Given the description of an element on the screen output the (x, y) to click on. 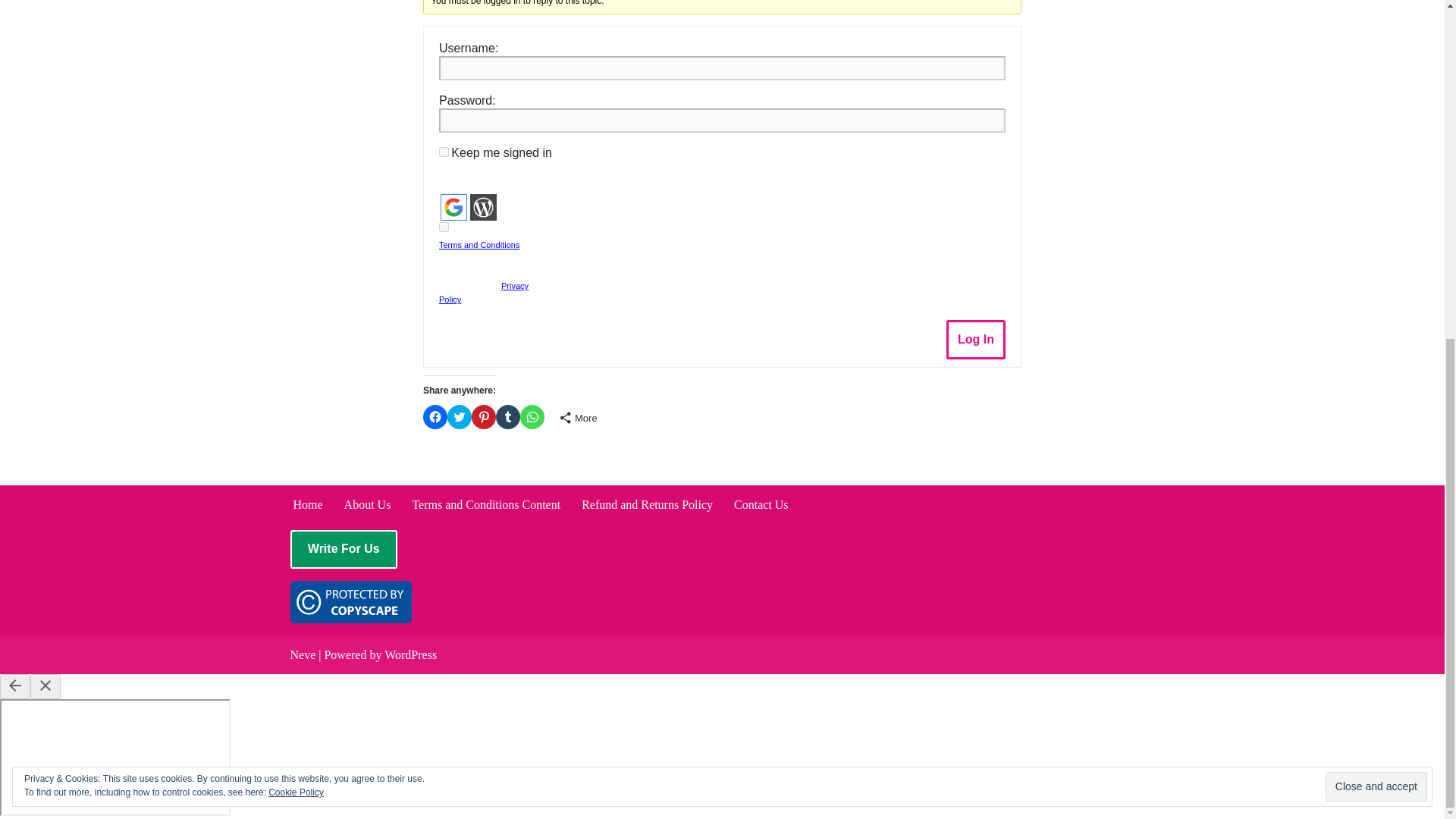
Login with Wordpress (483, 207)
1 (443, 226)
Close and accept (1375, 214)
Click to share on Facebook (434, 416)
Click to share on Tumblr (507, 416)
Click to share on Twitter (458, 416)
forever (443, 152)
Click to share on Pinterest (483, 416)
Login with Google (454, 207)
Click to share on WhatsApp (531, 416)
